Given the description of an element on the screen output the (x, y) to click on. 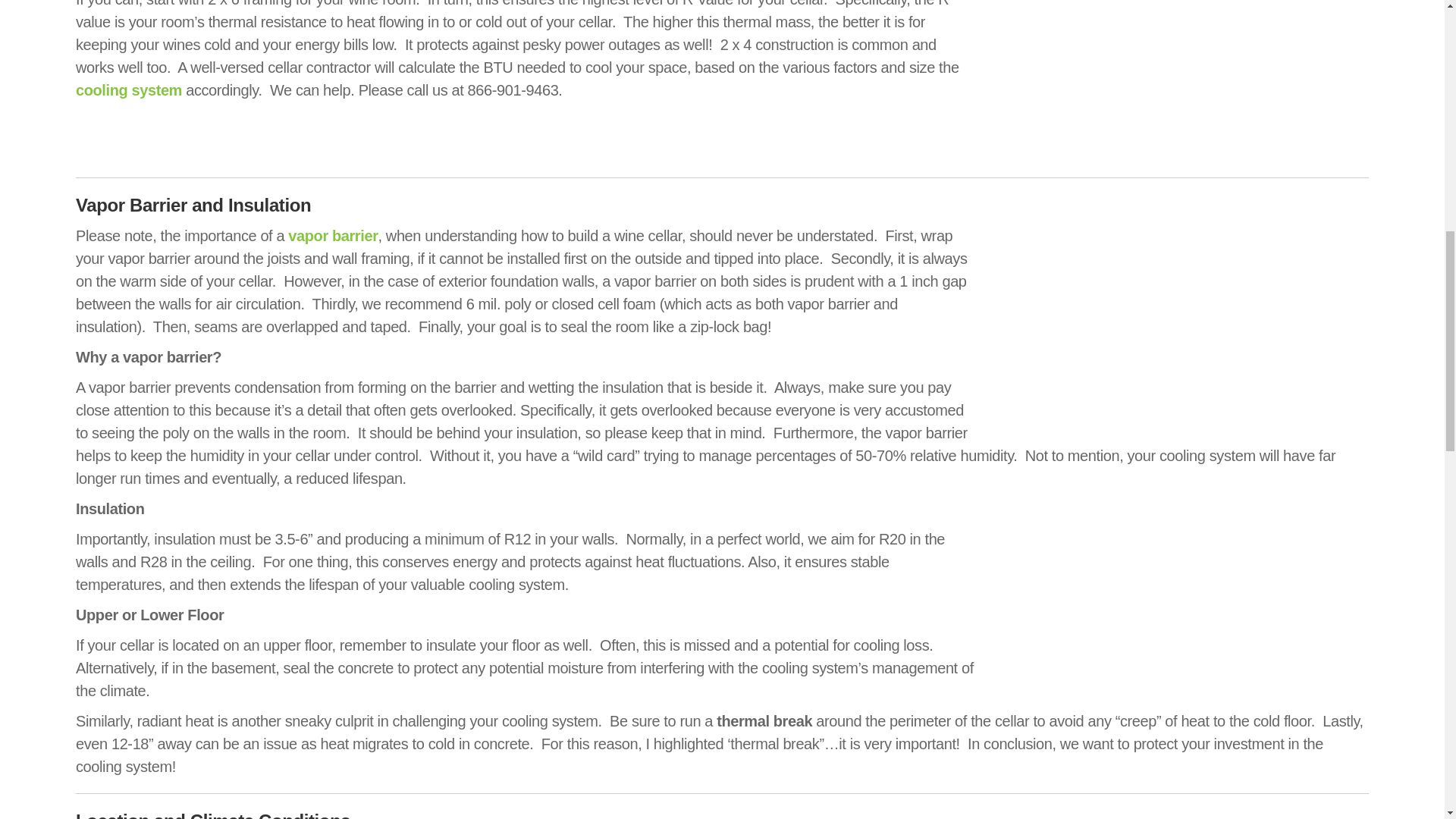
vapor barrier (332, 235)
How to Build a Wine Cellar 3 (1179, 322)
cooling system (128, 89)
How to Build a Wine Cellar 4 (1179, 588)
How to Build a Wine Cellar 2 (1179, 81)
